Given the description of an element on the screen output the (x, y) to click on. 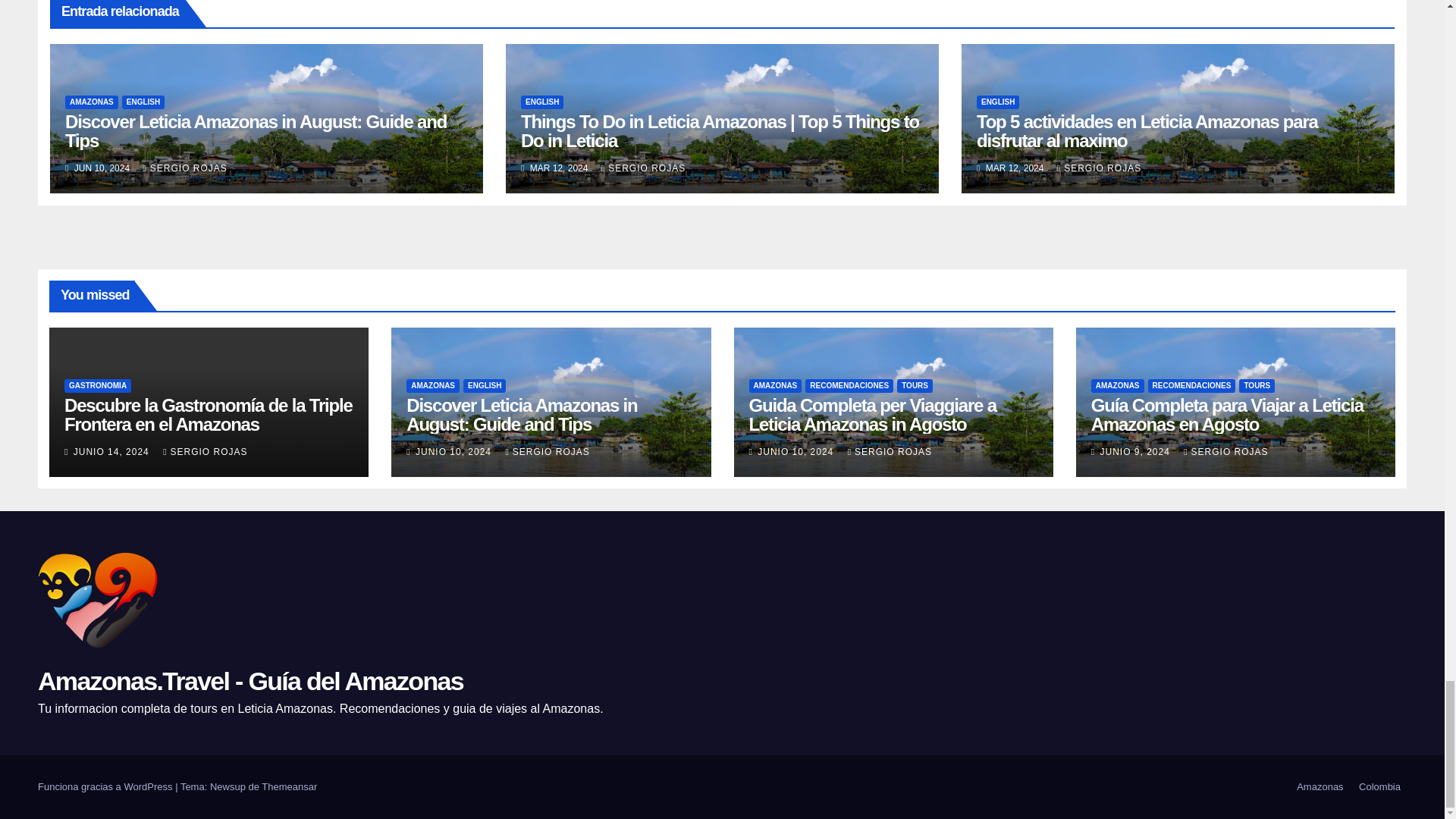
ENGLISH (143, 101)
AMAZONAS (91, 101)
Discover Leticia Amazonas in August: Guide and Tips (255, 130)
ENGLISH (542, 101)
SERGIO ROJAS (643, 167)
Amazonas (1319, 786)
SERGIO ROJAS (184, 167)
